Given the description of an element on the screen output the (x, y) to click on. 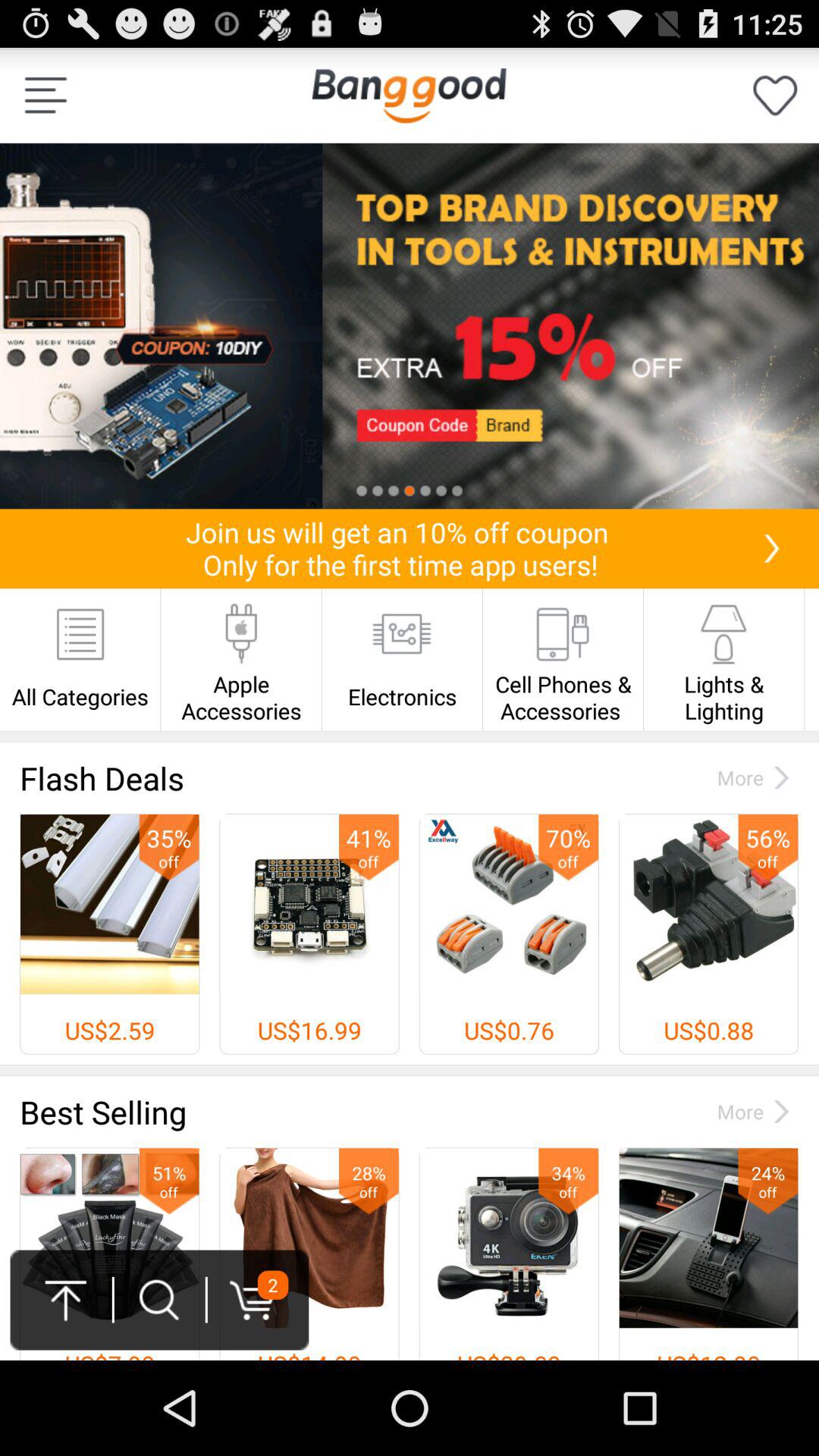
choose the icon at the top left corner (45, 95)
